Given the description of an element on the screen output the (x, y) to click on. 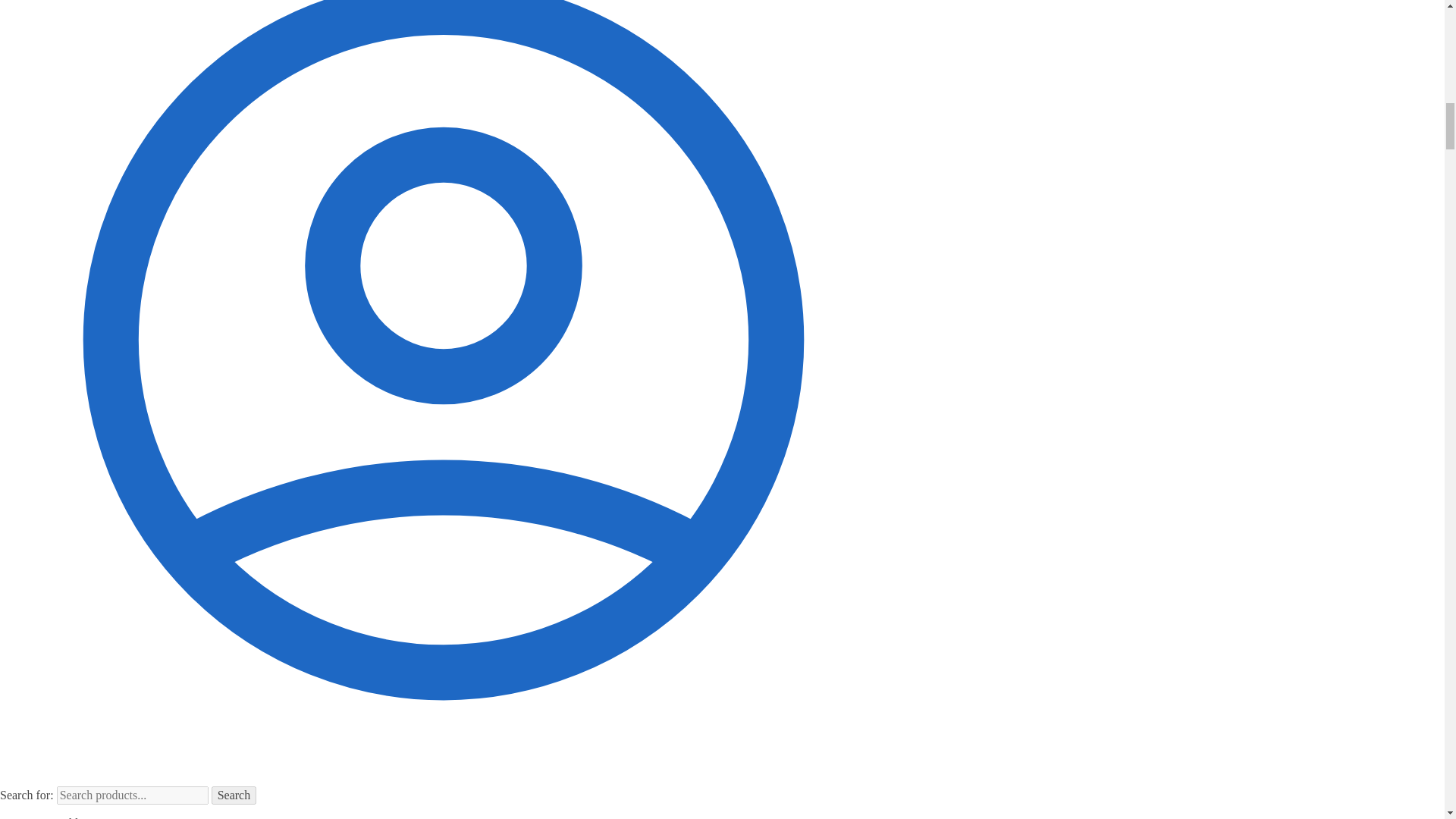
Search (234, 795)
My Account (443, 779)
